Given the description of an element on the screen output the (x, y) to click on. 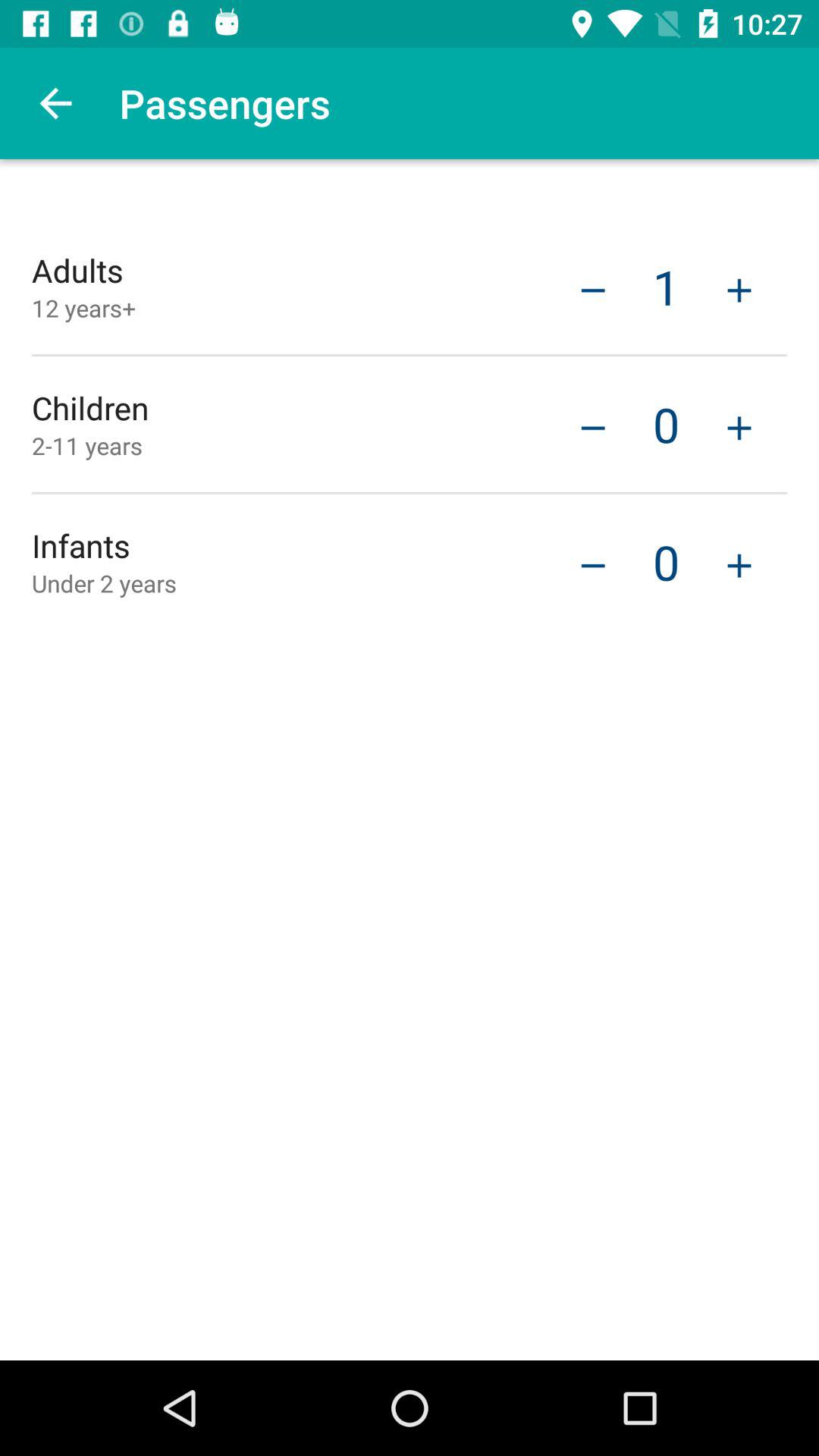
subtract number of children (592, 563)
